Given the description of an element on the screen output the (x, y) to click on. 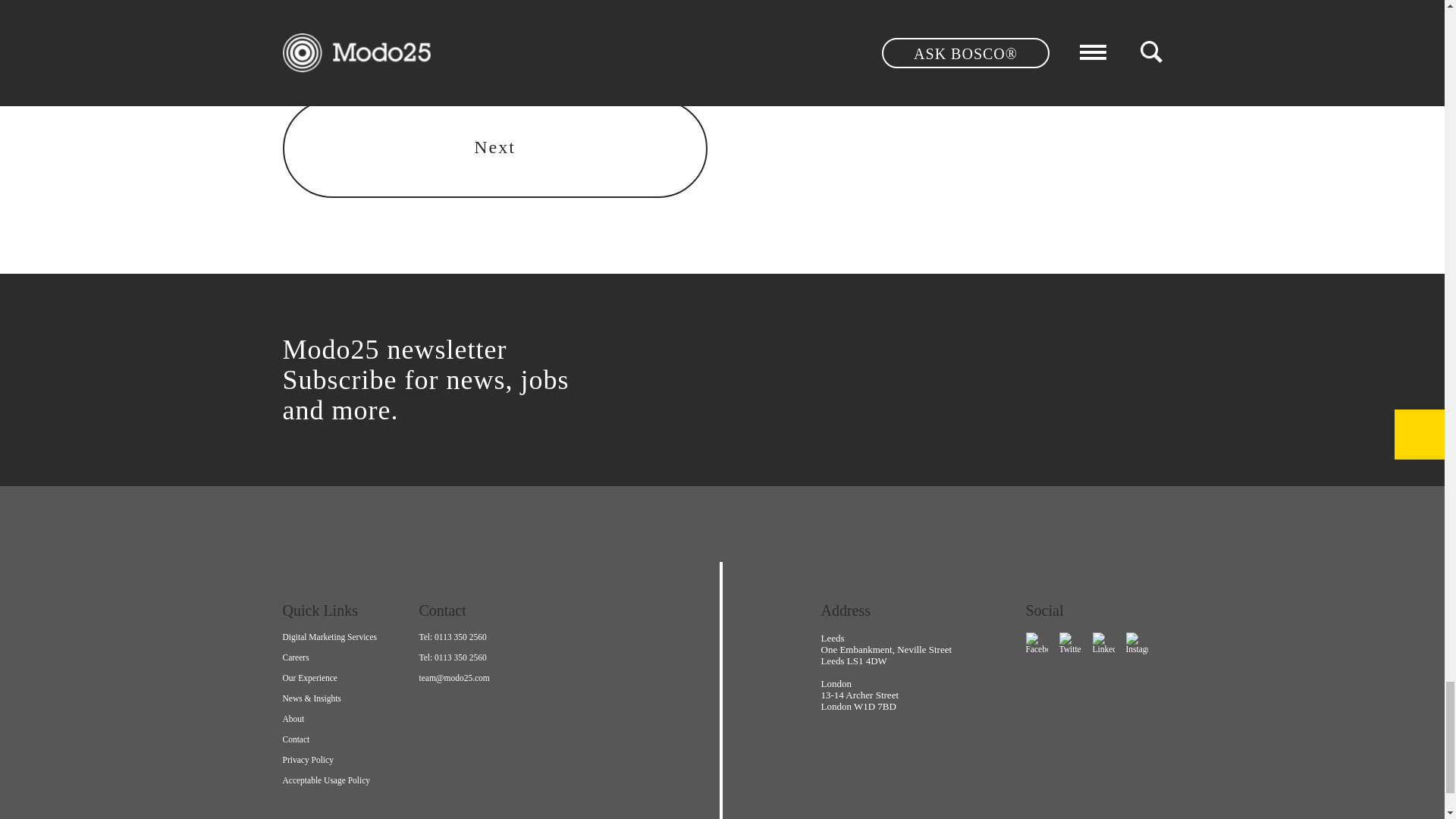
Predictive analytics techniques and models (494, 148)
Twitter - Modo25 (1069, 643)
Privacy Policy (350, 765)
Next (494, 148)
Instagram - Modo25 (1136, 643)
Acceptable Usage Policy (350, 785)
Digital Marketing Services (350, 642)
Tel: 0113 350 2560 (486, 642)
LinkedIn - Modo25 (1102, 643)
Tel: 0113 350 2560 (486, 662)
Our Experience (350, 683)
Facebook - Modo25 (1035, 643)
Contact (350, 744)
Careers (350, 662)
About (350, 724)
